Given the description of an element on the screen output the (x, y) to click on. 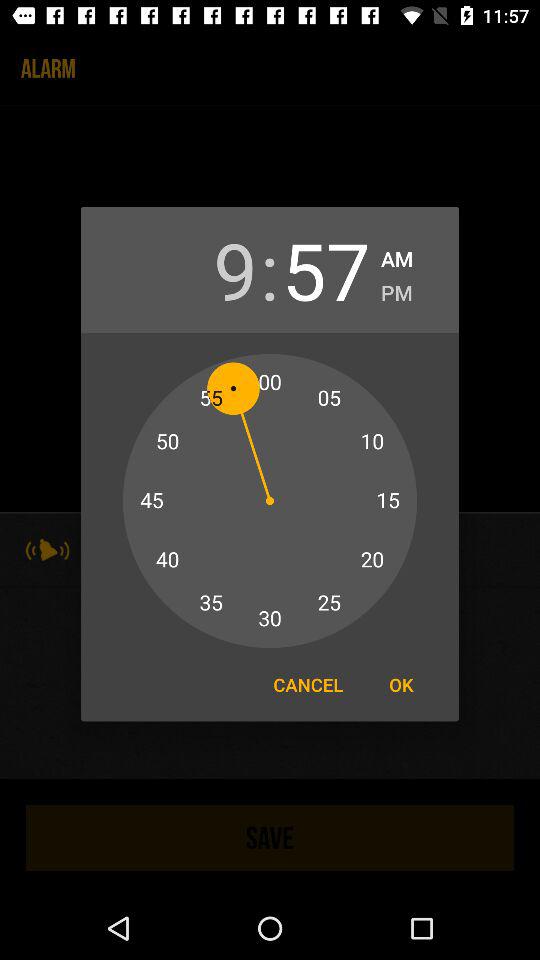
tap cancel item (308, 684)
